Given the description of an element on the screen output the (x, y) to click on. 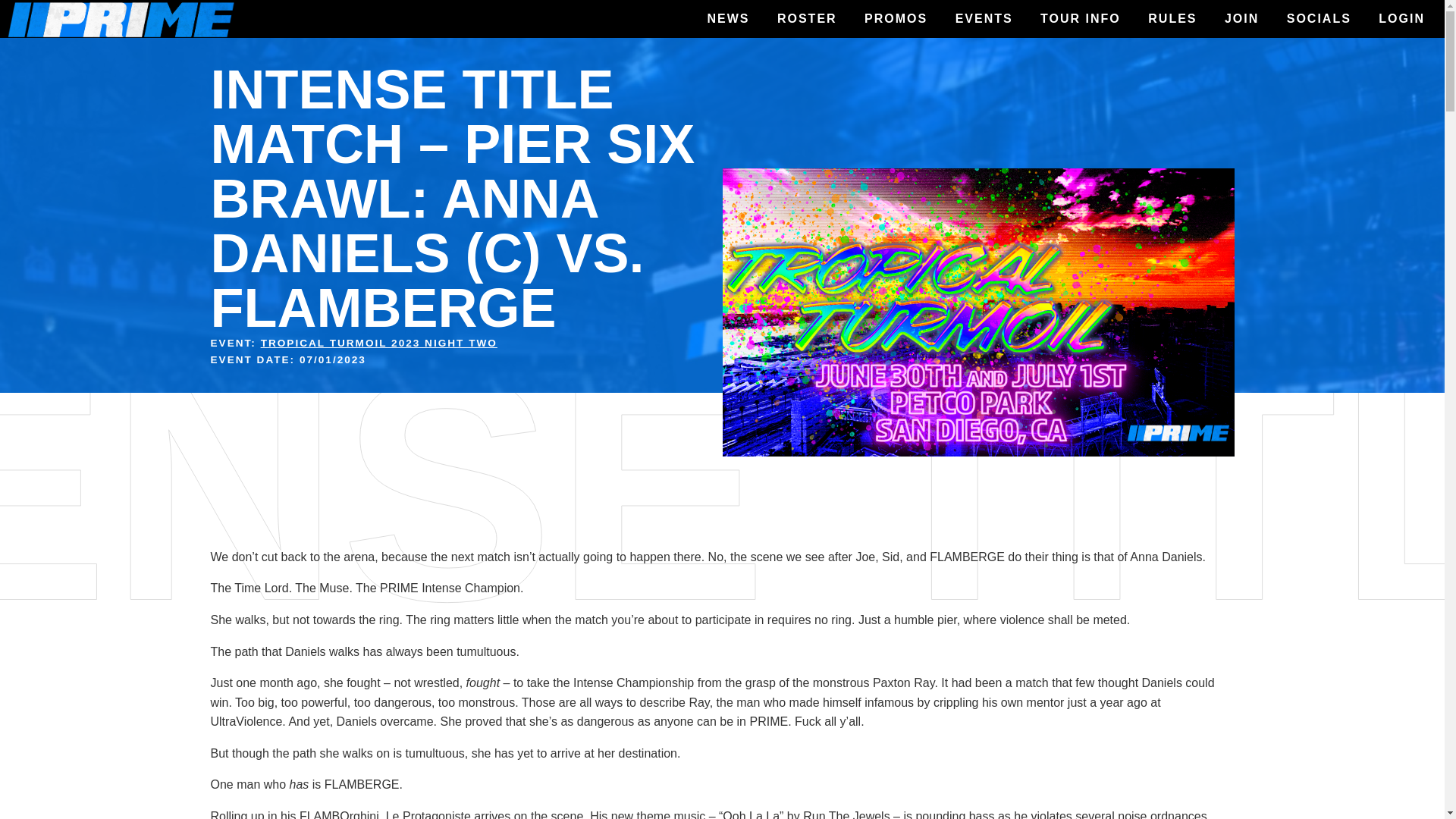
JOIN (1241, 19)
EVENTS (984, 19)
TOUR INFO (1079, 19)
PRIME (36, 46)
RULES (1171, 19)
NEWS (727, 19)
PROMOS (895, 19)
SOCIALS (1318, 19)
ROSTER (806, 19)
